Given the description of an element on the screen output the (x, y) to click on. 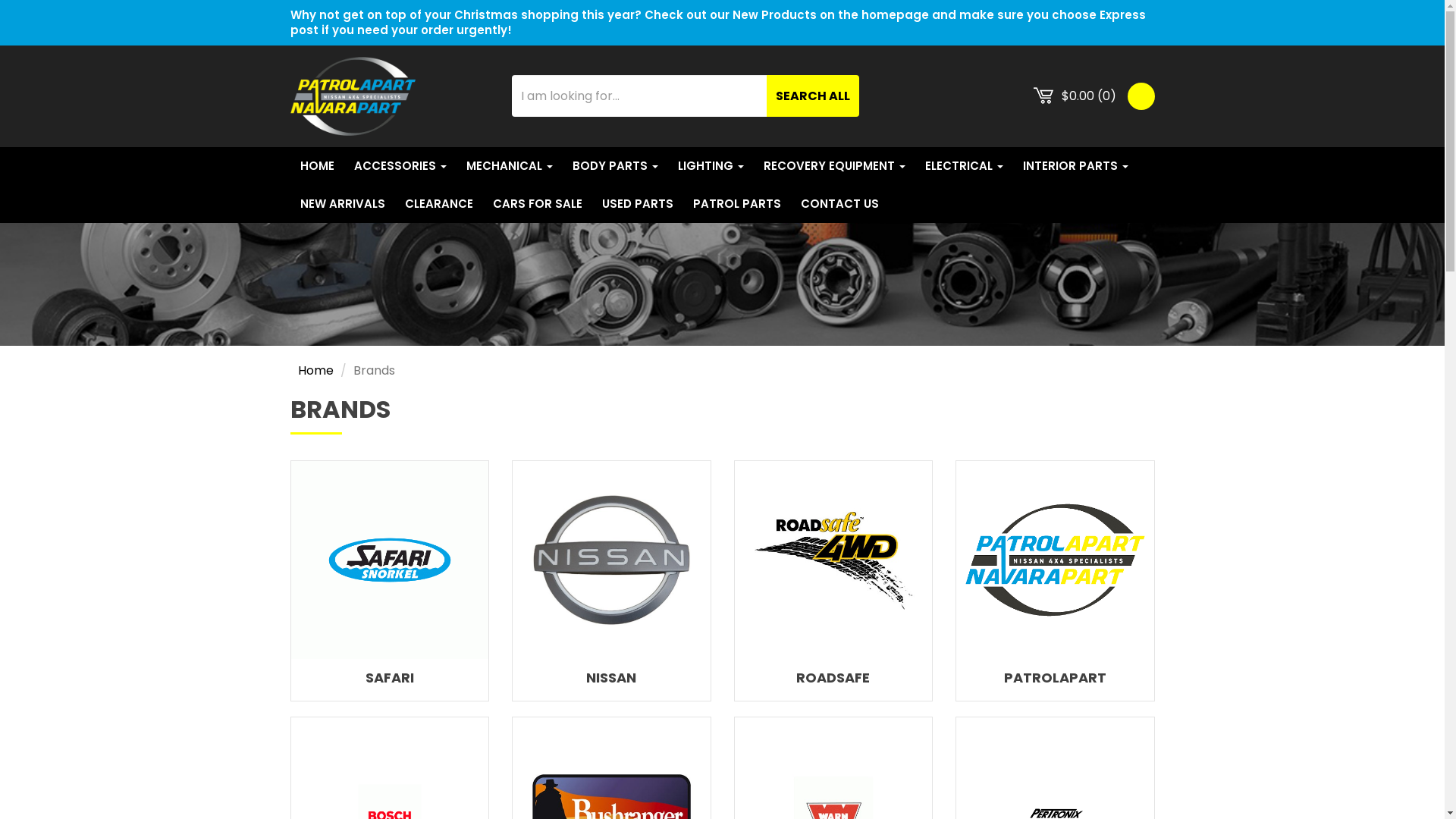
BODY PARTS Element type: text (615, 166)
RECOVERY EQUIPMENT Element type: text (834, 166)
PATROLAPART Element type: text (1055, 677)
CONTACT US Element type: text (839, 203)
ELECTRICAL Element type: text (963, 166)
ACCESSORIES Element type: text (400, 166)
NEW ARRIVALS Element type: text (341, 203)
SAFARI Element type: text (389, 677)
LIGHTING Element type: text (710, 166)
USED PARTS Element type: text (636, 203)
NISSAN Element type: text (611, 677)
SEARCH ALL Element type: text (811, 95)
Home Element type: text (310, 369)
MECHANICAL Element type: text (509, 166)
Navarapart Element type: hover (351, 95)
ROADSAFE Element type: text (832, 677)
$0.00 (0) Element type: text (1076, 95)
CARS FOR SALE Element type: text (536, 203)
HOME Element type: text (316, 166)
INTERIOR PARTS Element type: text (1075, 166)
CLEARANCE Element type: text (438, 203)
PATROL PARTS Element type: text (736, 203)
